Given the description of an element on the screen output the (x, y) to click on. 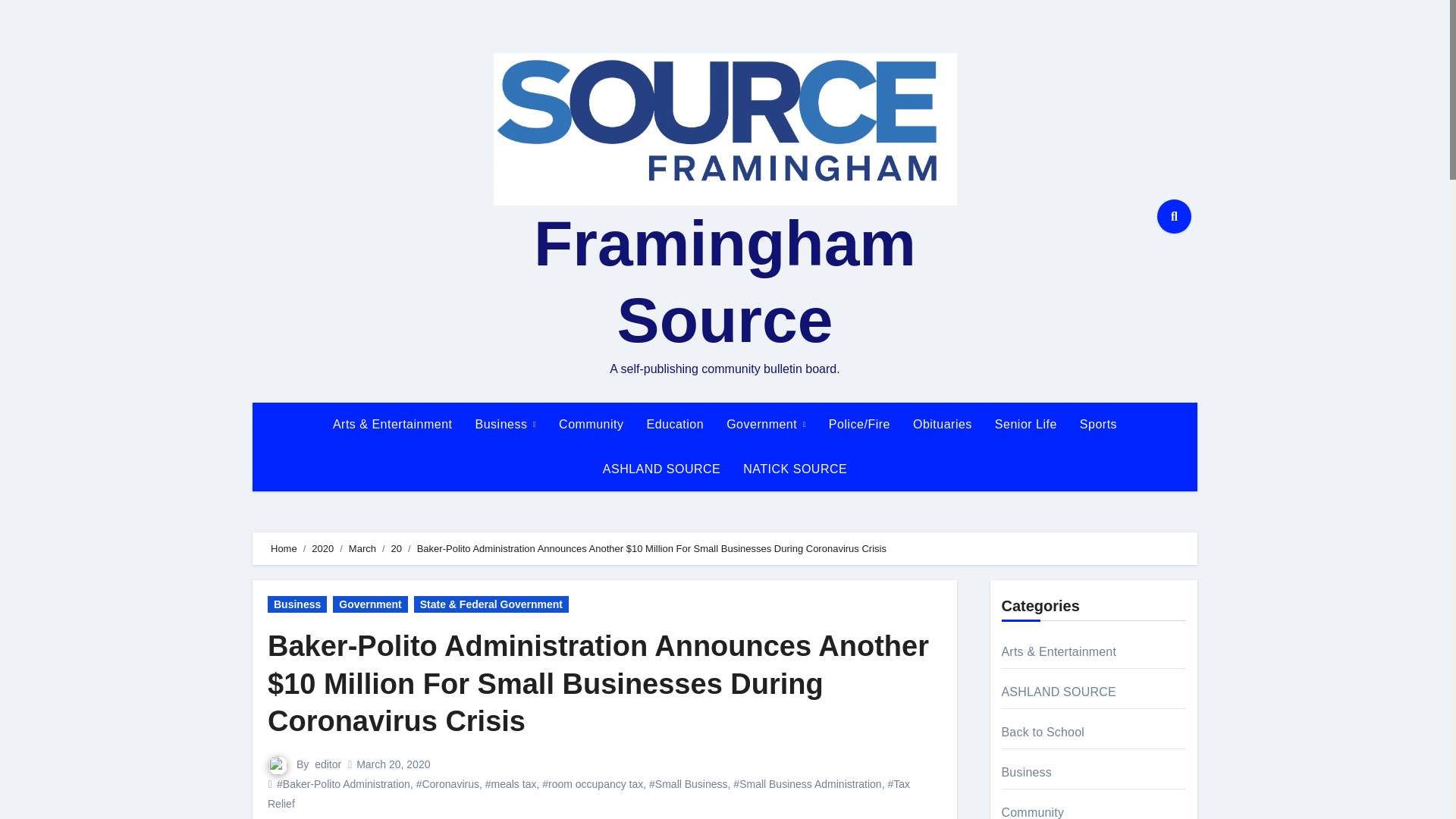
Obituaries (942, 424)
2020 (322, 548)
Education (675, 424)
Government (370, 604)
March 20, 2020 (392, 764)
Community (590, 424)
Business (506, 424)
Government (765, 424)
editor (327, 764)
Home (283, 548)
